Given the description of an element on the screen output the (x, y) to click on. 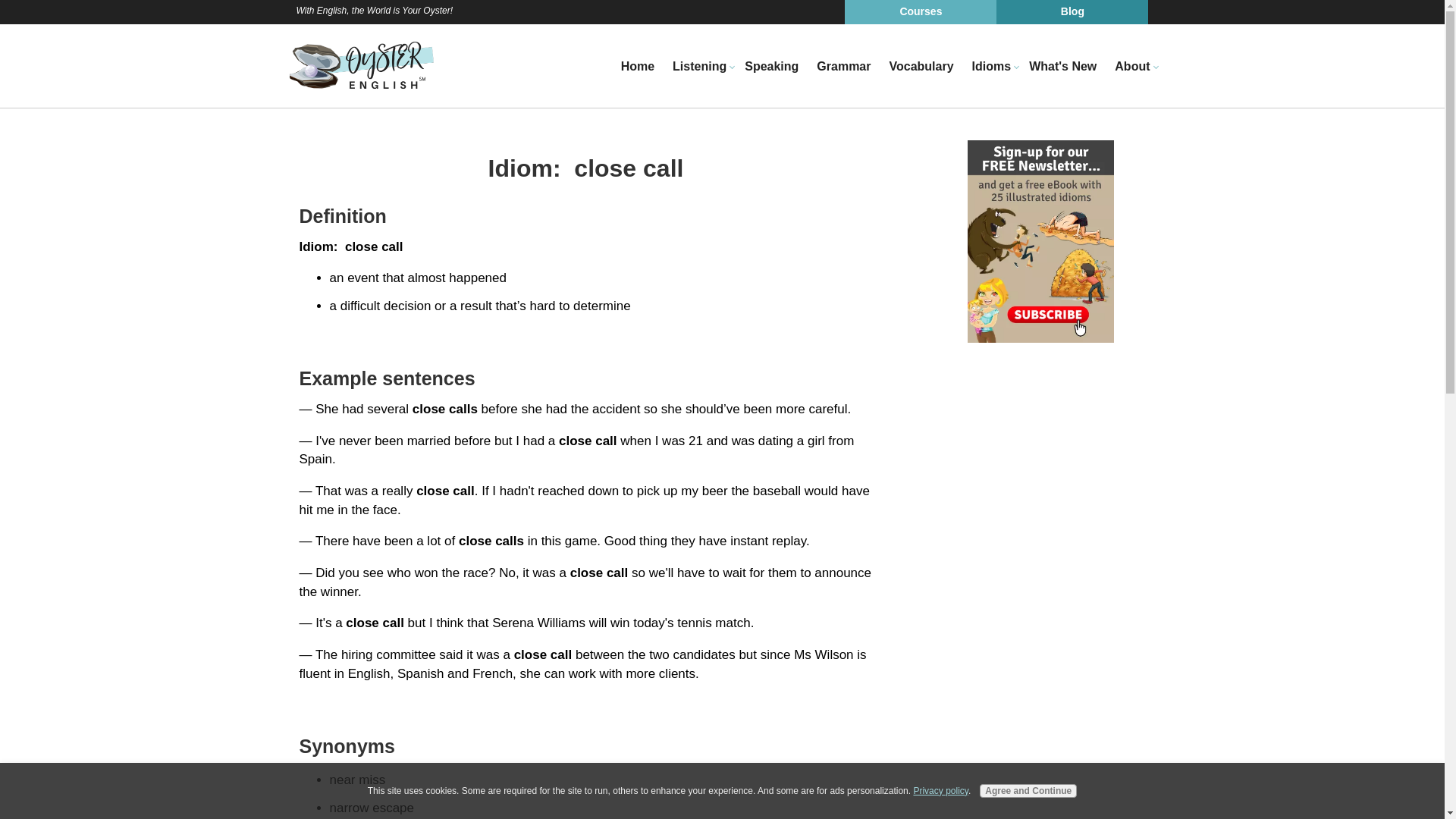
Courses (919, 12)
Speaking (771, 66)
Subscribe to our newsletter (1040, 241)
Blog (1071, 12)
What's New (1062, 66)
OYSTERENGLISH.COM (360, 65)
Home (637, 66)
Agree and Continue (1028, 790)
Vocabulary (920, 66)
Privacy policy (940, 790)
Go to Signup and receive a free idioms ebook (1040, 338)
Grammar (843, 66)
